Given the description of an element on the screen output the (x, y) to click on. 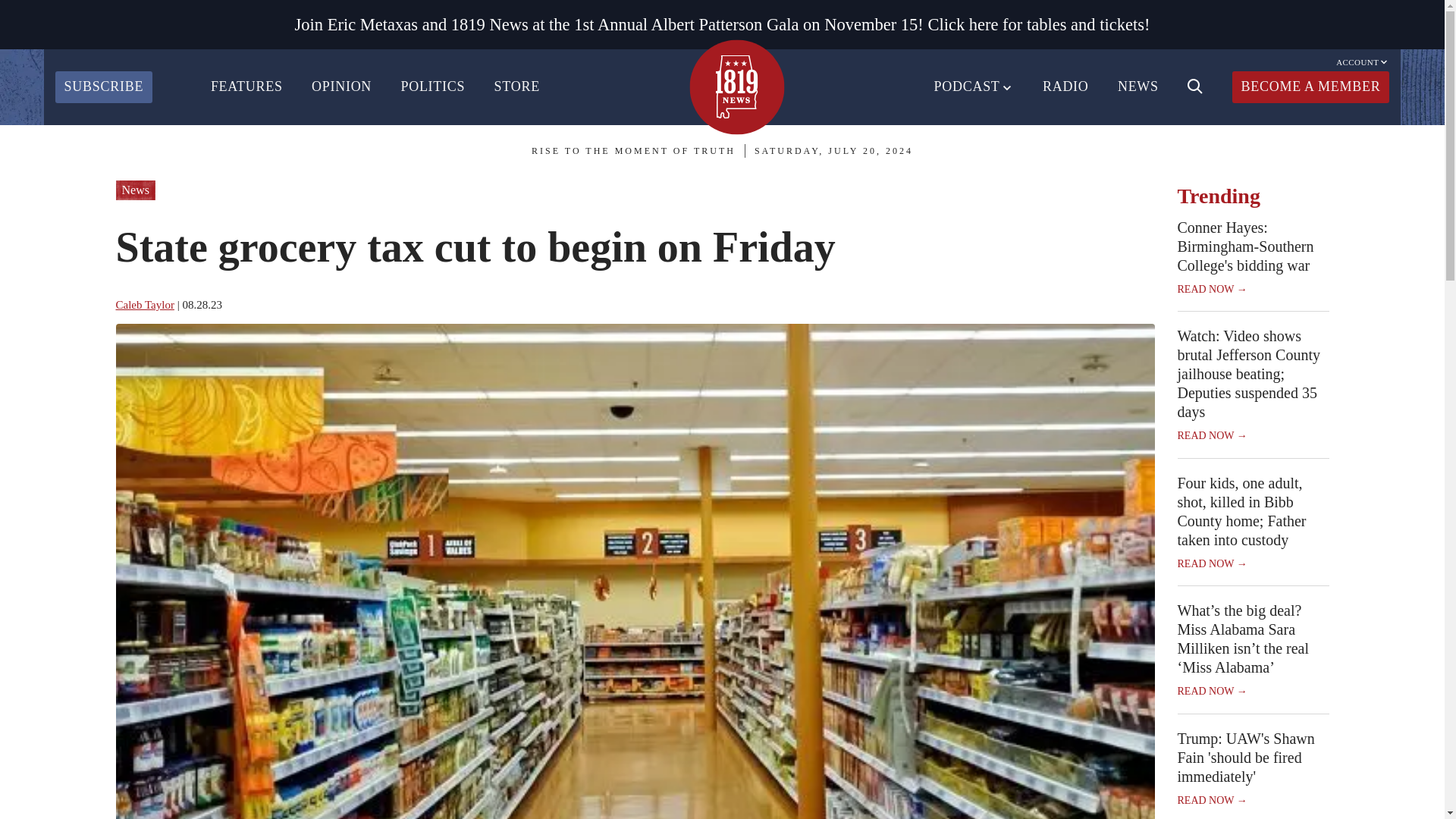
STORE (517, 87)
HOMEPAGE (736, 86)
BECOME A MEMBER (1310, 87)
News (134, 189)
SUBSCRIBE (103, 87)
NEWS (1138, 87)
POLITICS (432, 87)
OPINION (341, 87)
FEATURES (246, 87)
RADIO (1065, 87)
PODCAST (973, 87)
Caleb Taylor (144, 304)
